Given the description of an element on the screen output the (x, y) to click on. 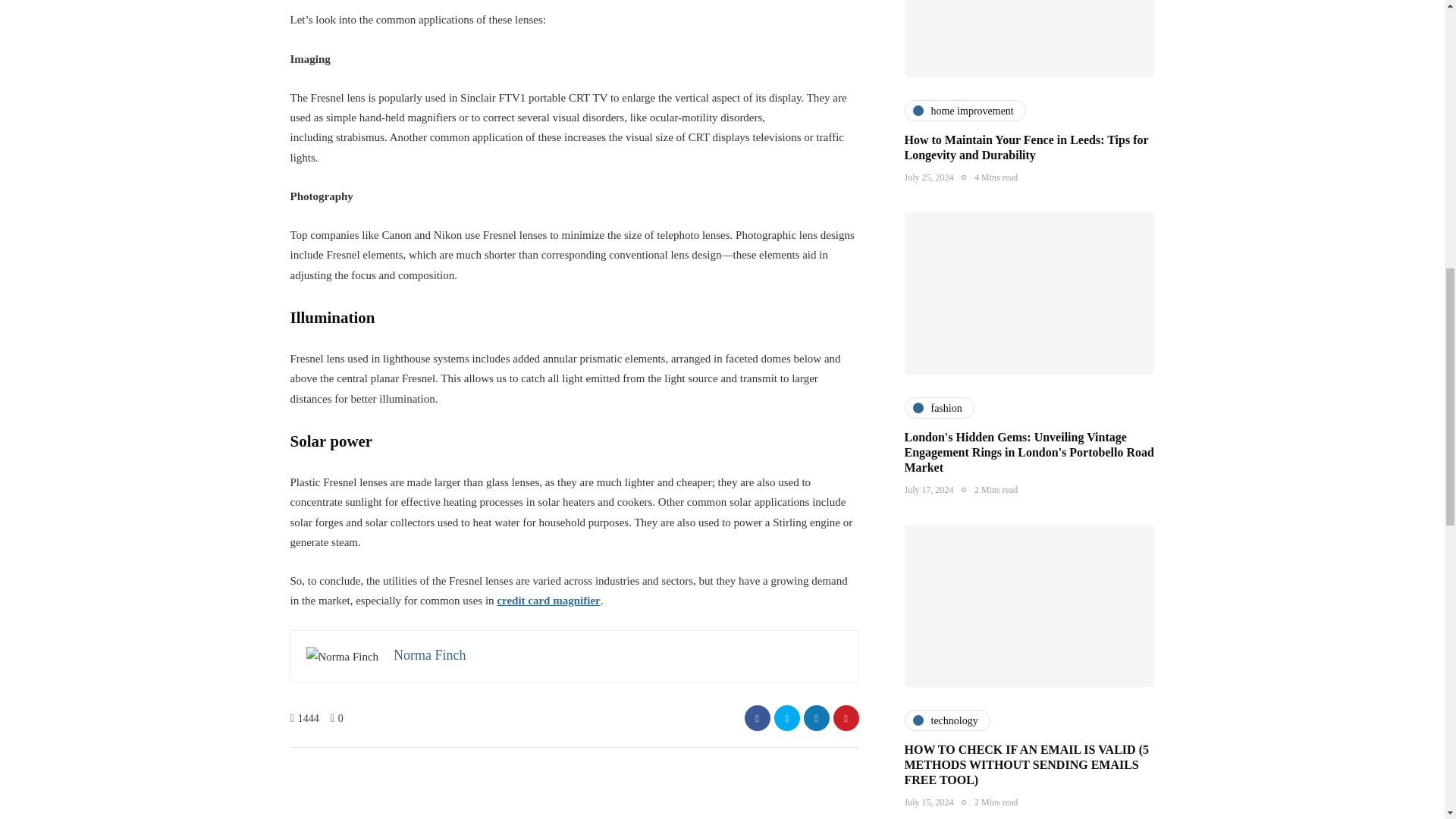
Share with Facebook (757, 718)
Share with LinkedIn (816, 718)
Norma Finch (429, 654)
Tweet this (786, 718)
Pin this (845, 718)
credit card magnifier (547, 600)
